Given the description of an element on the screen output the (x, y) to click on. 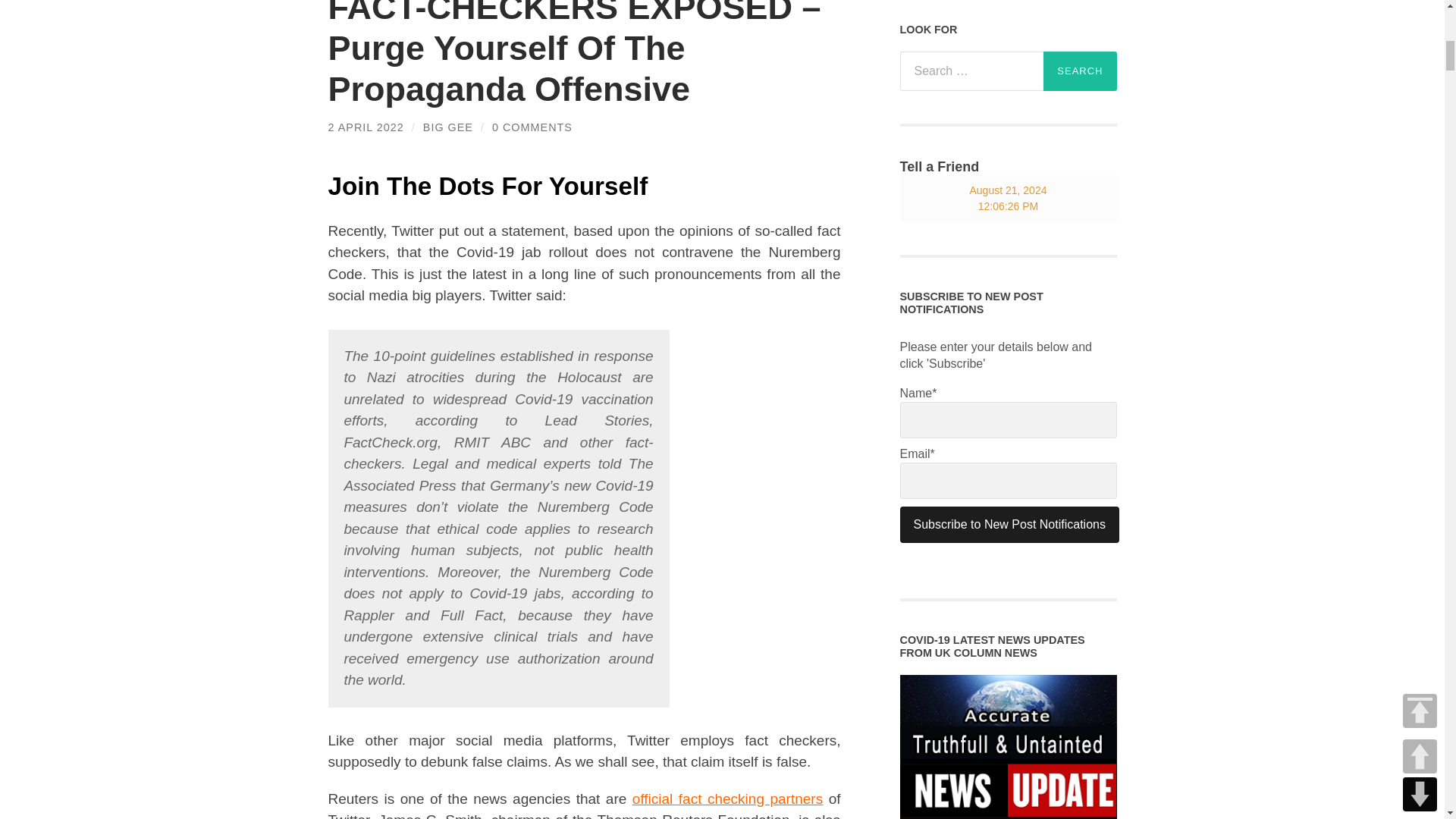
Search (1079, 70)
Posts by Big Gee (448, 127)
Subscribe to New Post Notifications (1008, 524)
Search (1079, 70)
